Given the description of an element on the screen output the (x, y) to click on. 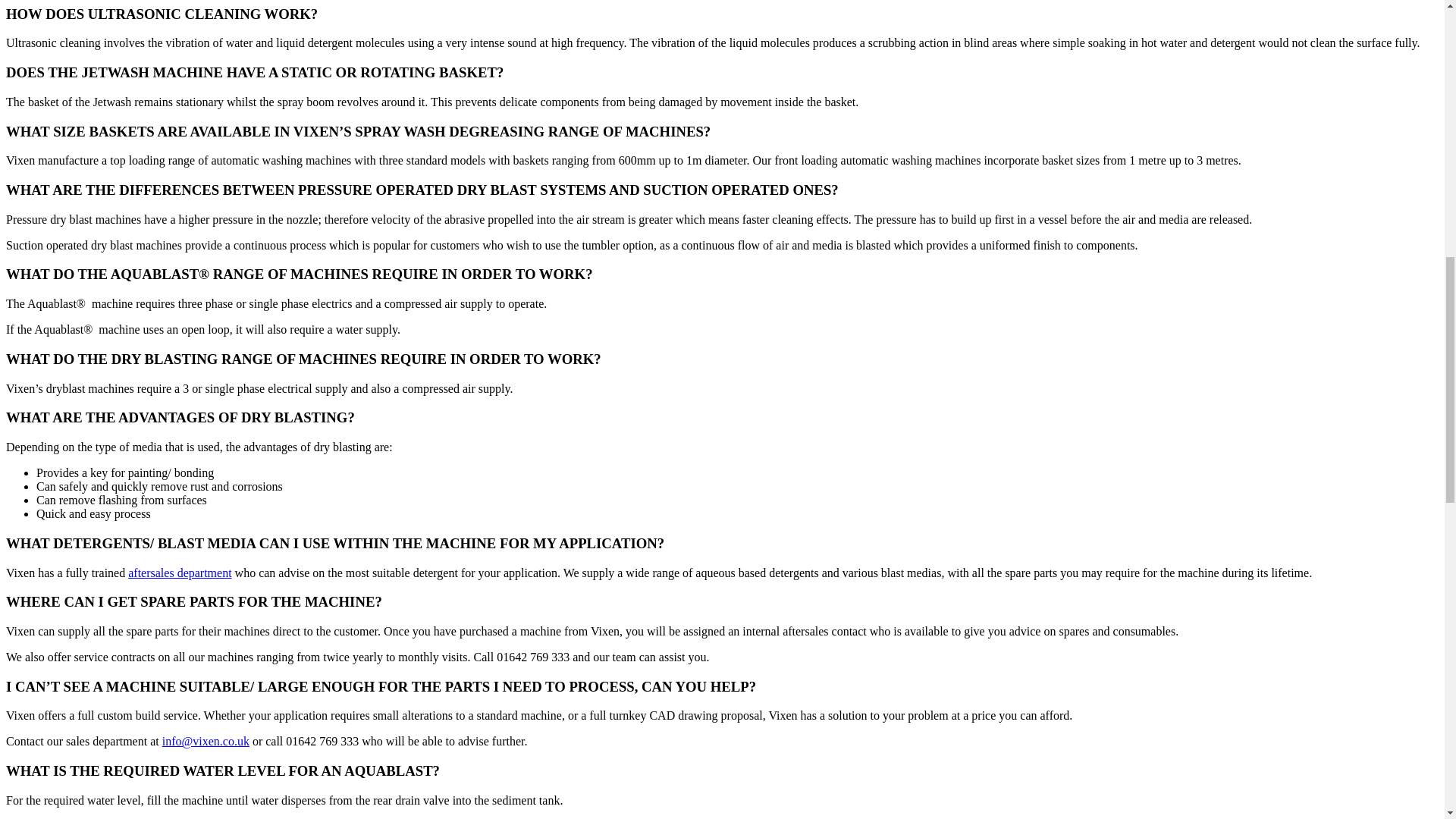
aftersales department (179, 571)
